Given the description of an element on the screen output the (x, y) to click on. 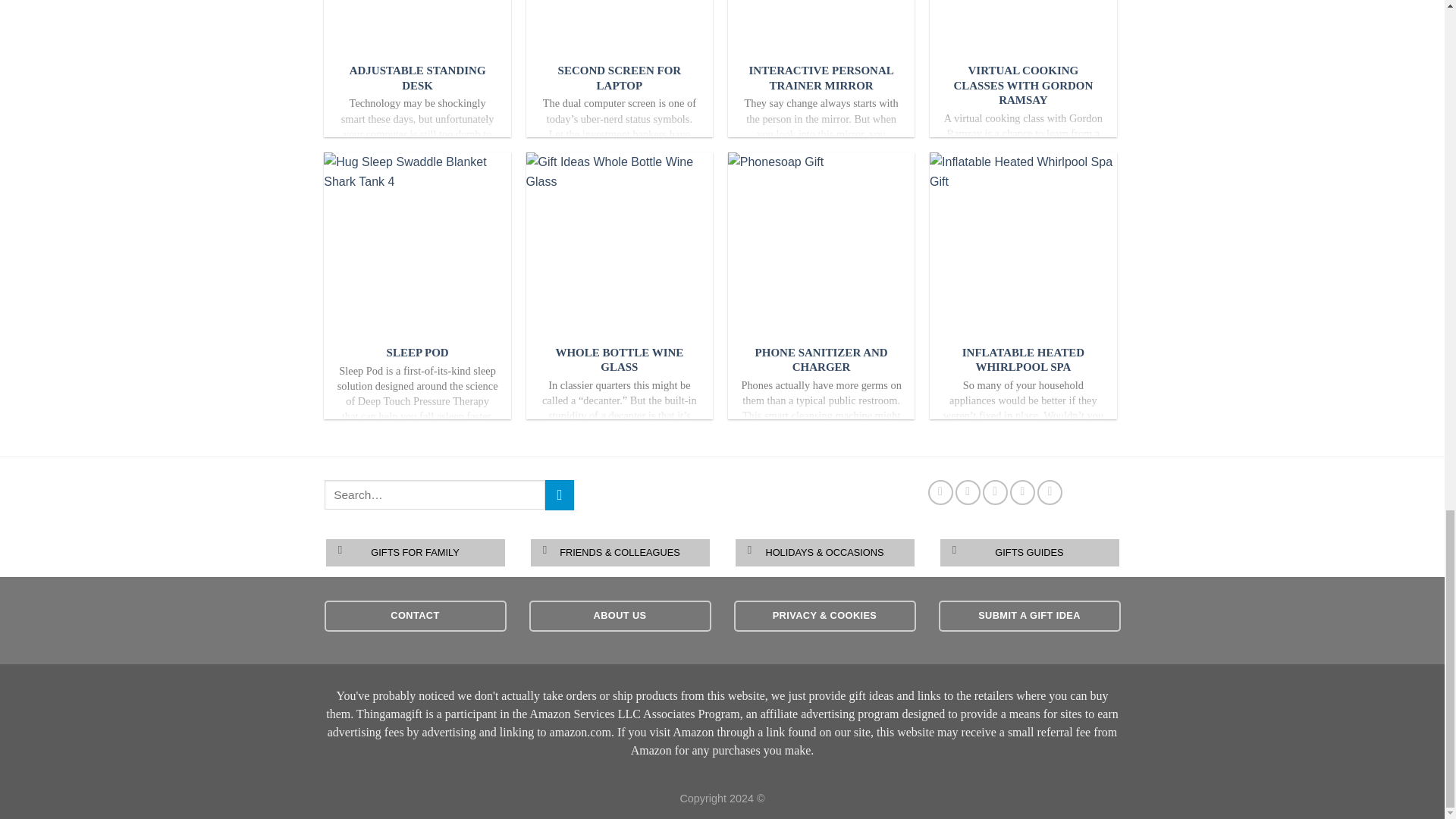
Pin on Pinterest (1022, 492)
Share on Facebook (940, 492)
Email to a Friend (994, 492)
Share on Tumblr (1049, 492)
Share on Twitter (967, 492)
